Given the description of an element on the screen output the (x, y) to click on. 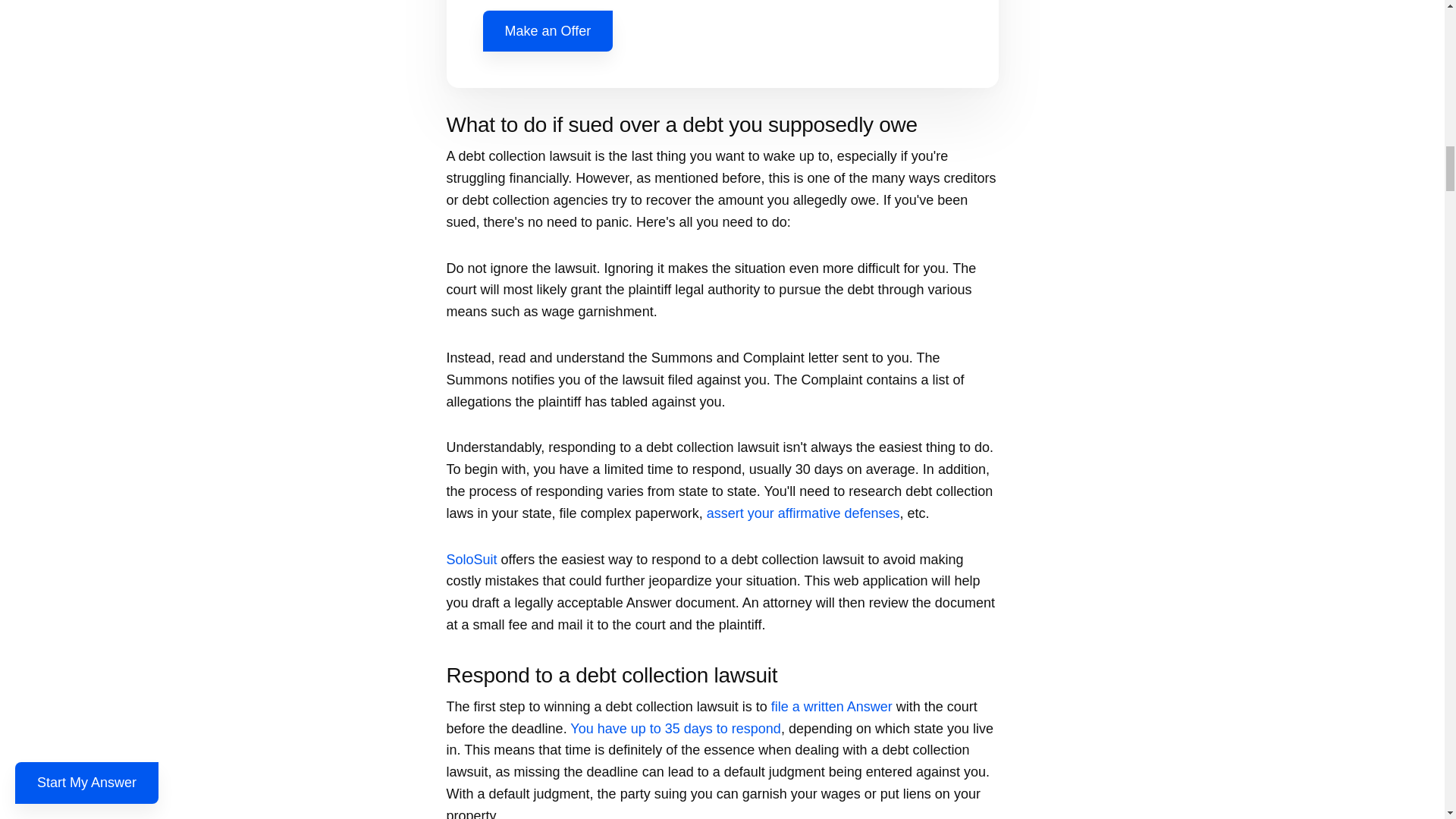
assert your affirmative defenses (802, 513)
Make an Offer (546, 31)
file a written Answer (831, 706)
SoloSuit (470, 559)
You have up to 35 days to respond (675, 728)
